Given the description of an element on the screen output the (x, y) to click on. 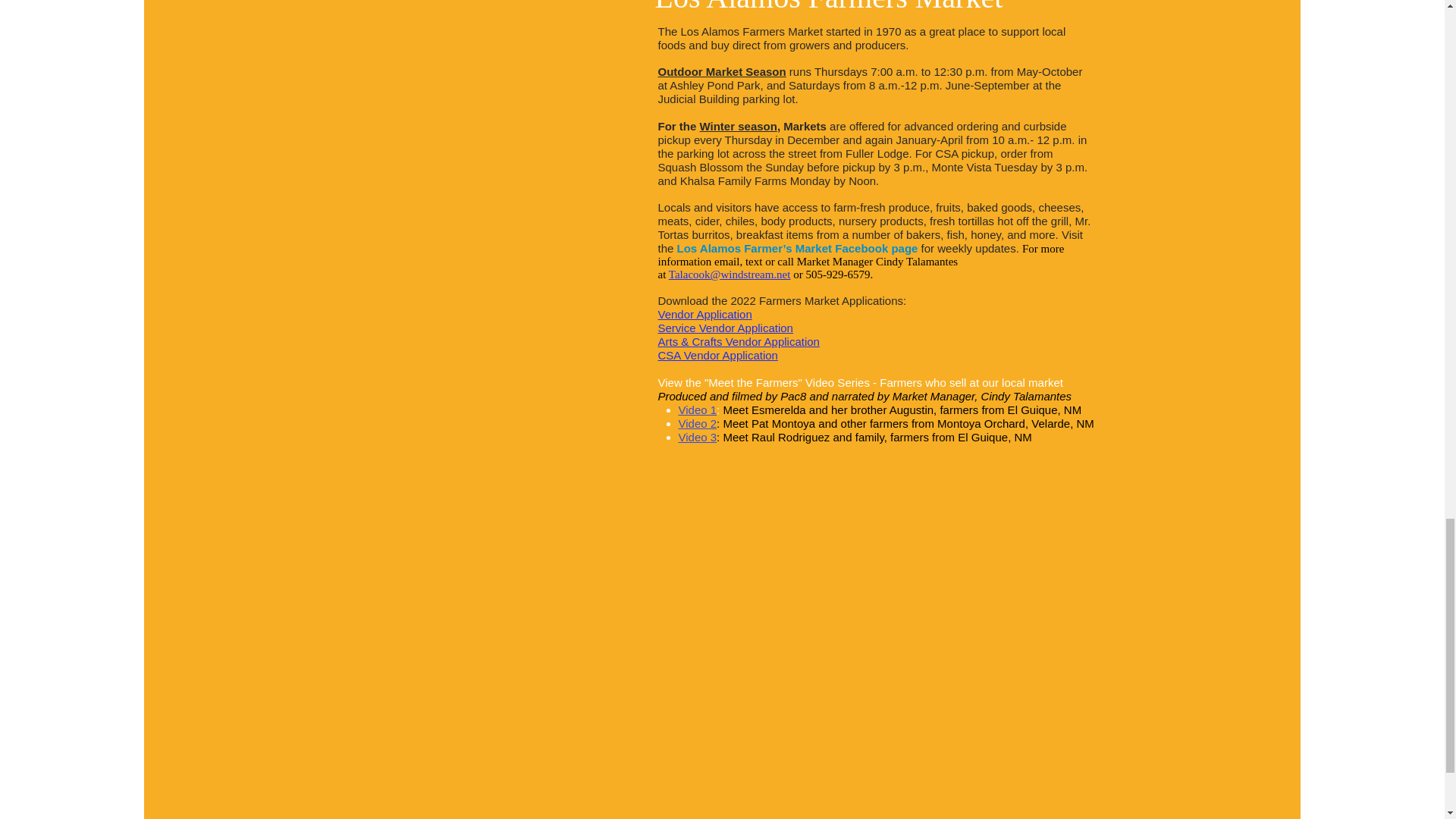
Service Vendor Application (725, 328)
Video 1 (697, 409)
CSA Vendor Application (717, 355)
Vendor Application (705, 314)
Video 3 (697, 436)
Video 2 (697, 422)
